Given the description of an element on the screen output the (x, y) to click on. 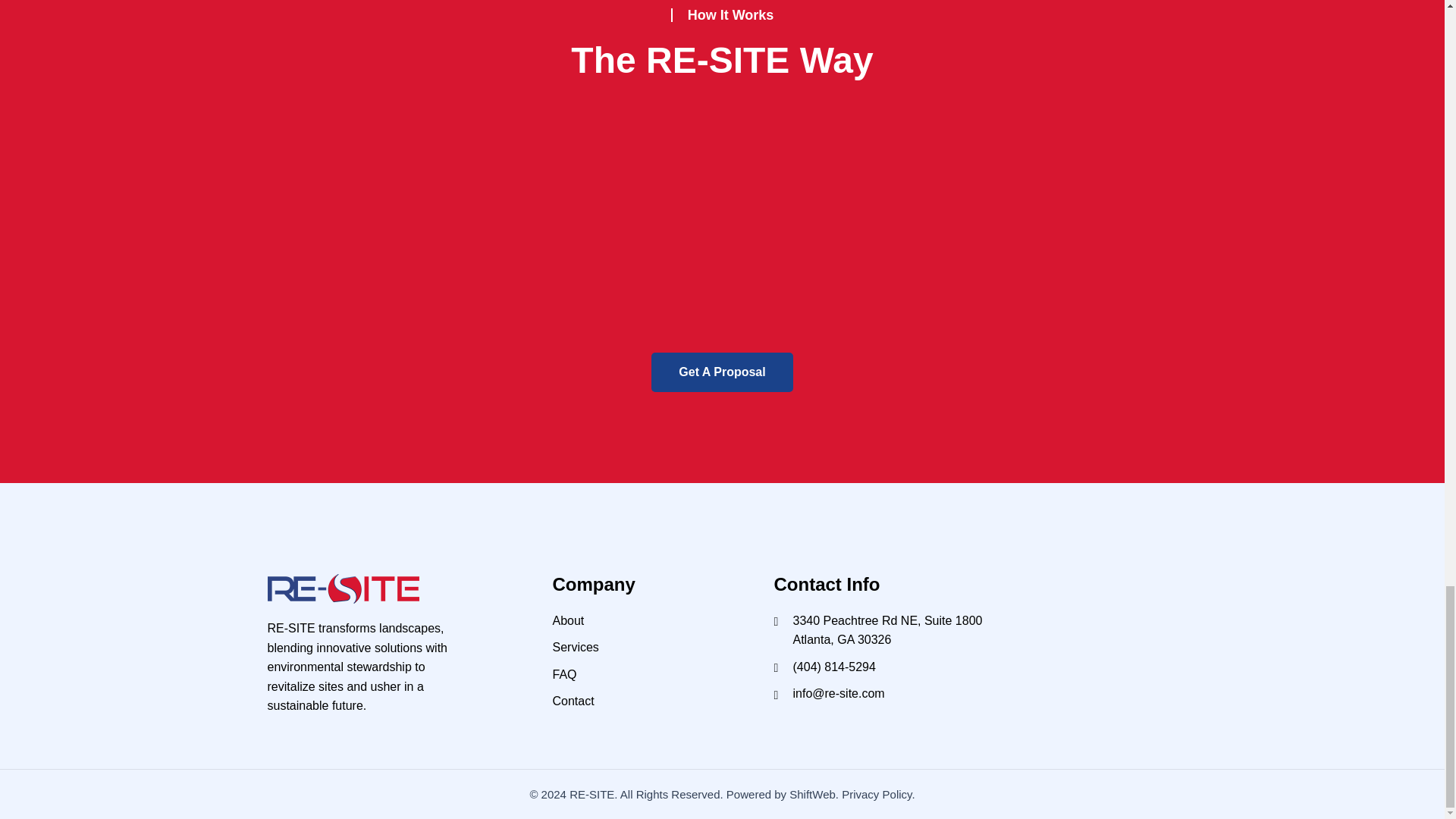
About (646, 620)
Get A Proposal (721, 372)
Services (646, 647)
